Given the description of an element on the screen output the (x, y) to click on. 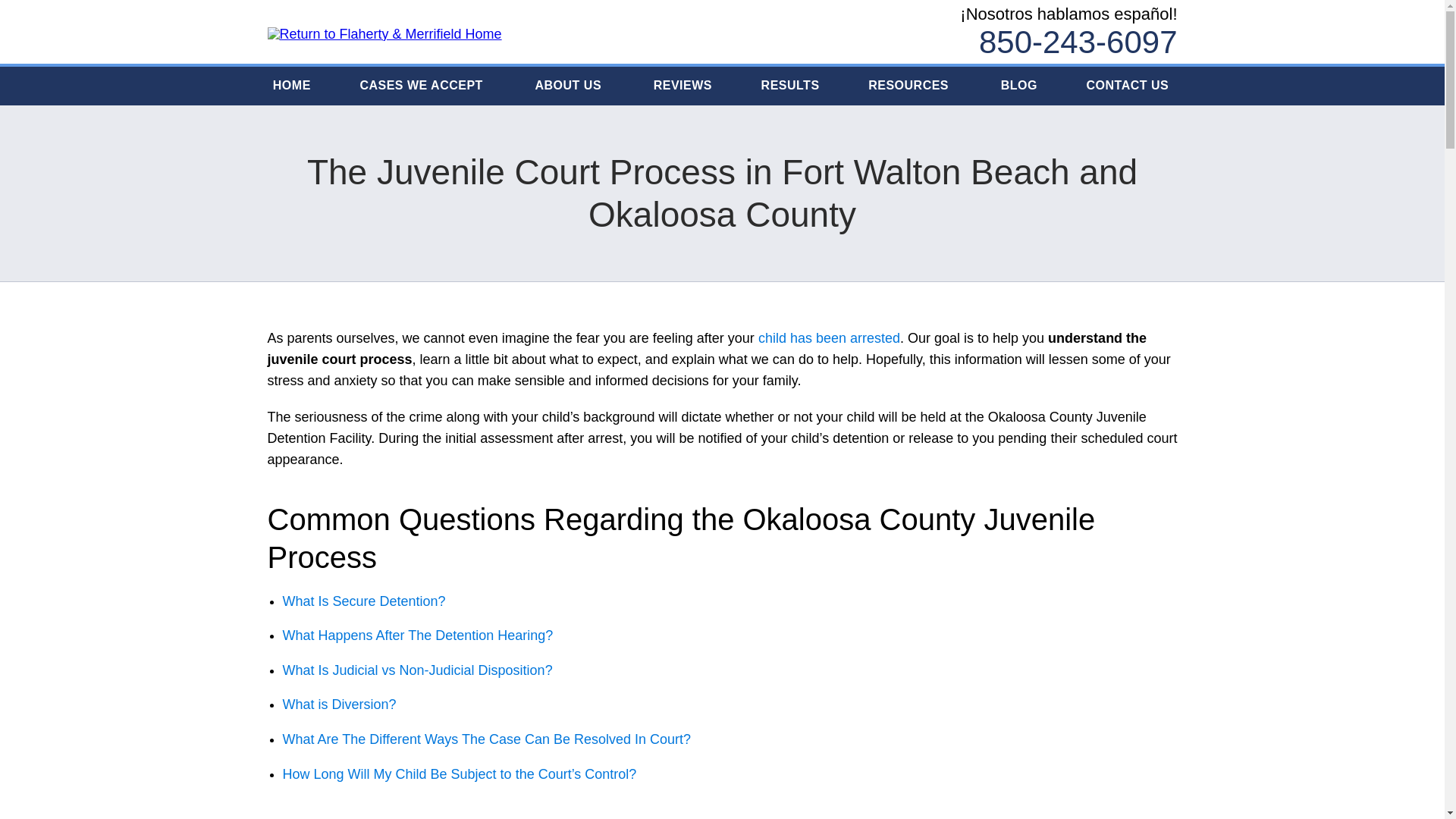
HOME (292, 85)
RESOURCES (909, 85)
CONTACT US (1128, 85)
850-243-6097 (1077, 41)
RESULTS (790, 85)
BLOG (1018, 85)
ABOUT US (569, 85)
CASES WE ACCEPT (422, 85)
REVIEWS (682, 85)
